Given the description of an element on the screen output the (x, y) to click on. 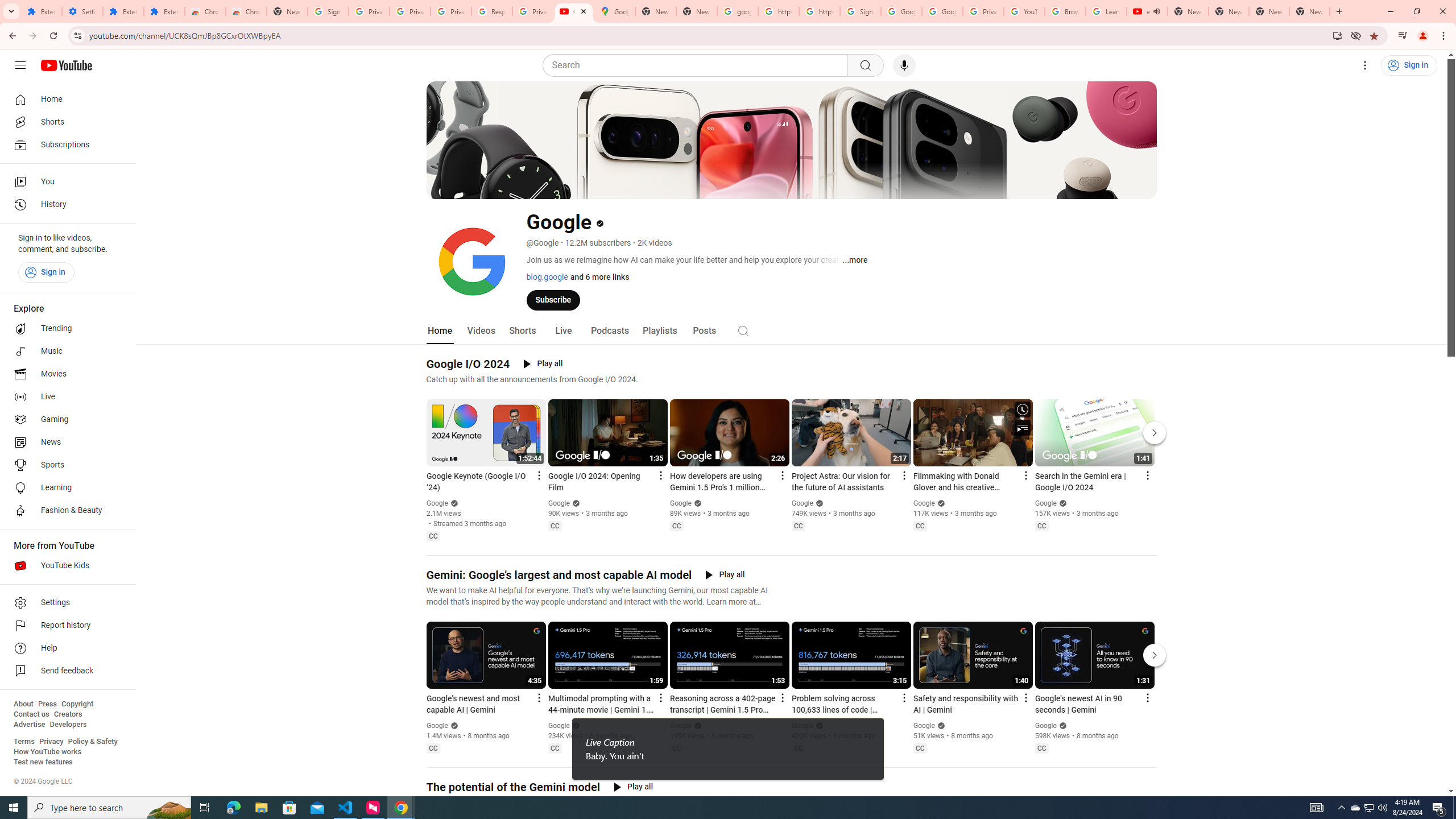
Podcasts (608, 330)
History (64, 204)
Fashion & Beauty (64, 510)
Shorts (521, 330)
Google Maps (614, 11)
Google - YouTube (573, 11)
Extensions (163, 11)
YouTube (1023, 11)
Report history (64, 625)
